Given the description of an element on the screen output the (x, y) to click on. 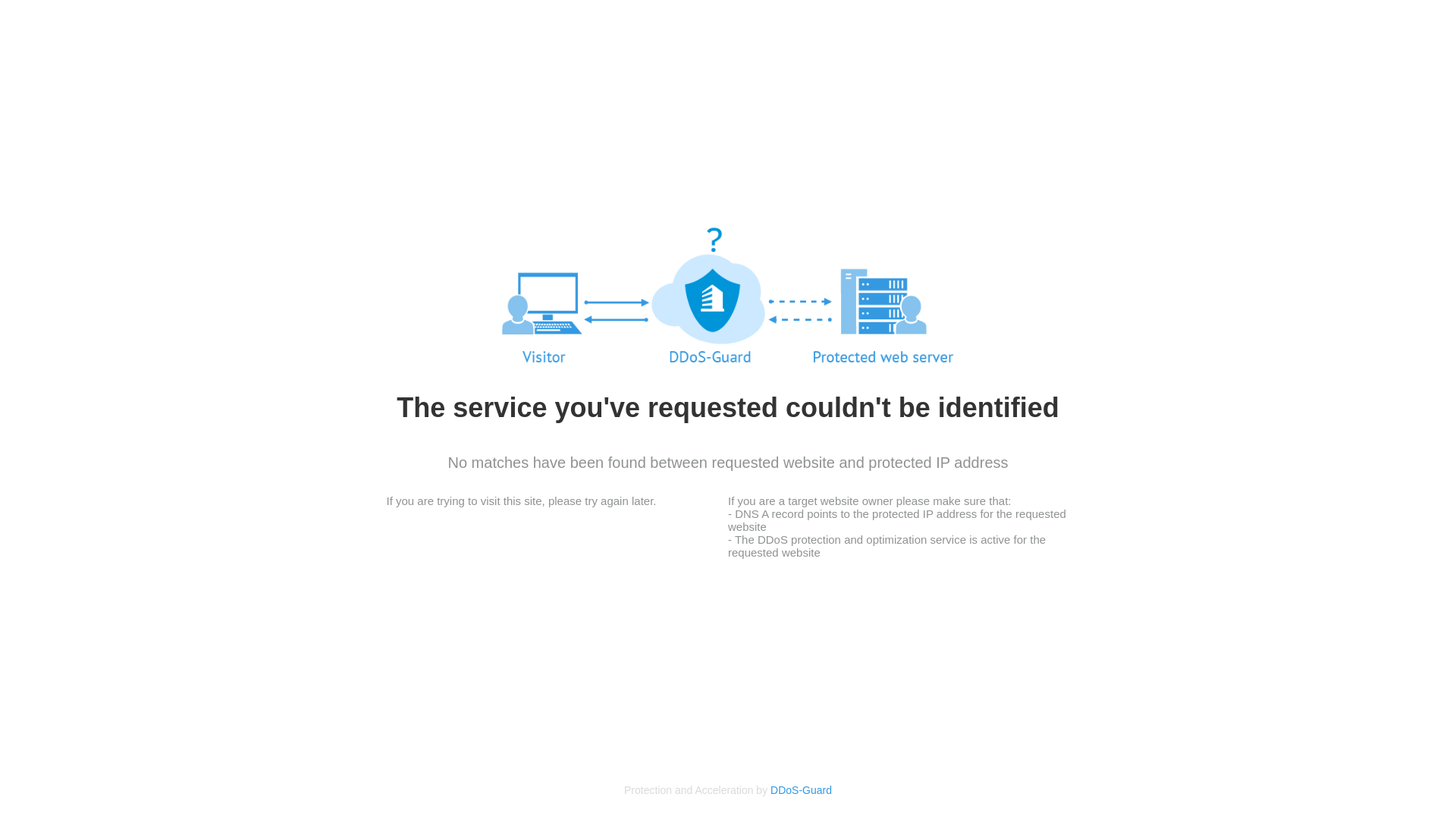
DDoS-Guard Element type: text (800, 790)
